Given the description of an element on the screen output the (x, y) to click on. 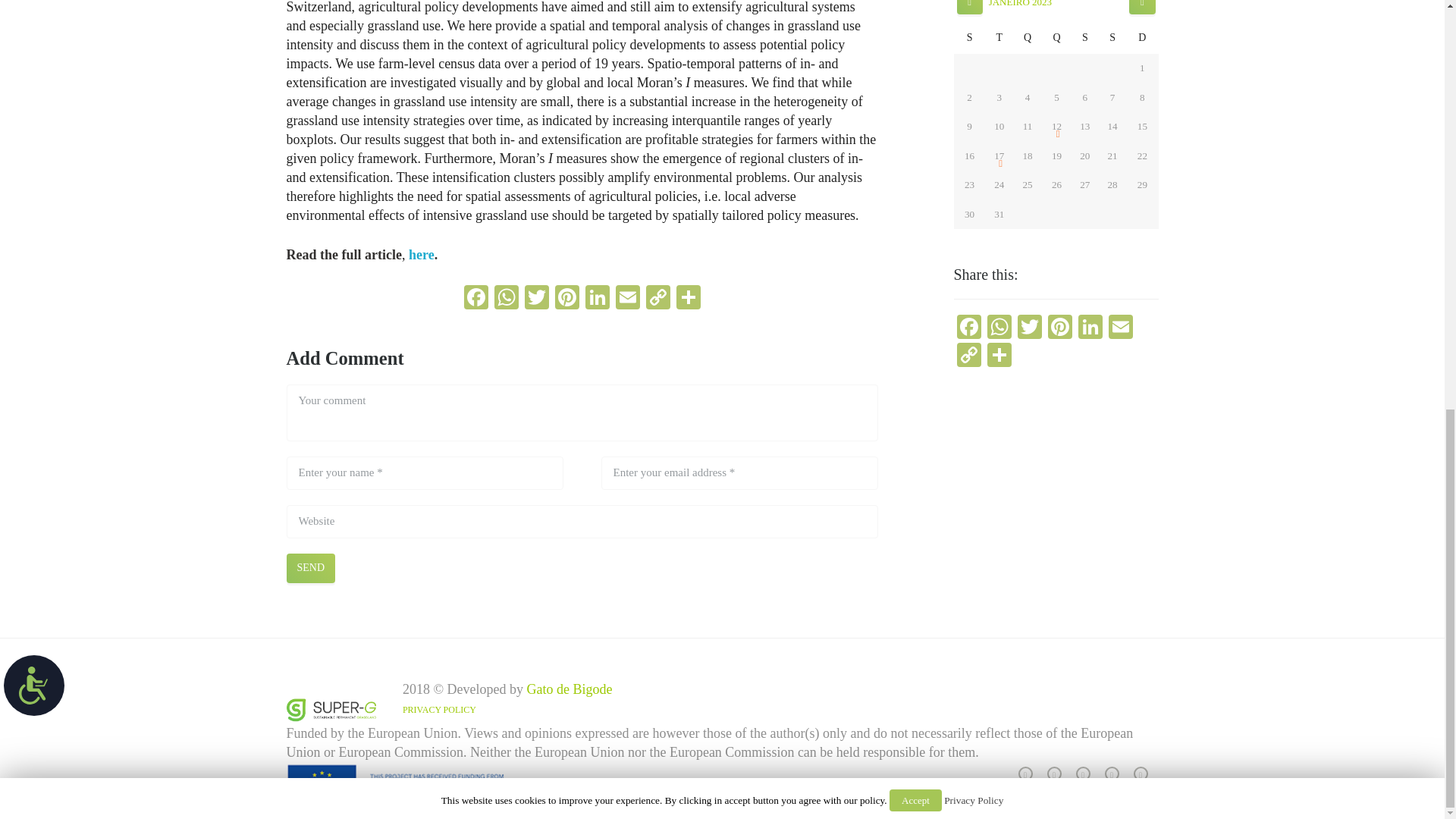
Copy Link (657, 298)
WhatsApp (506, 298)
Facebook (476, 298)
Send (311, 567)
Email (627, 298)
LinkedIn (597, 298)
Twitter (536, 298)
Pinterest (566, 298)
